Given the description of an element on the screen output the (x, y) to click on. 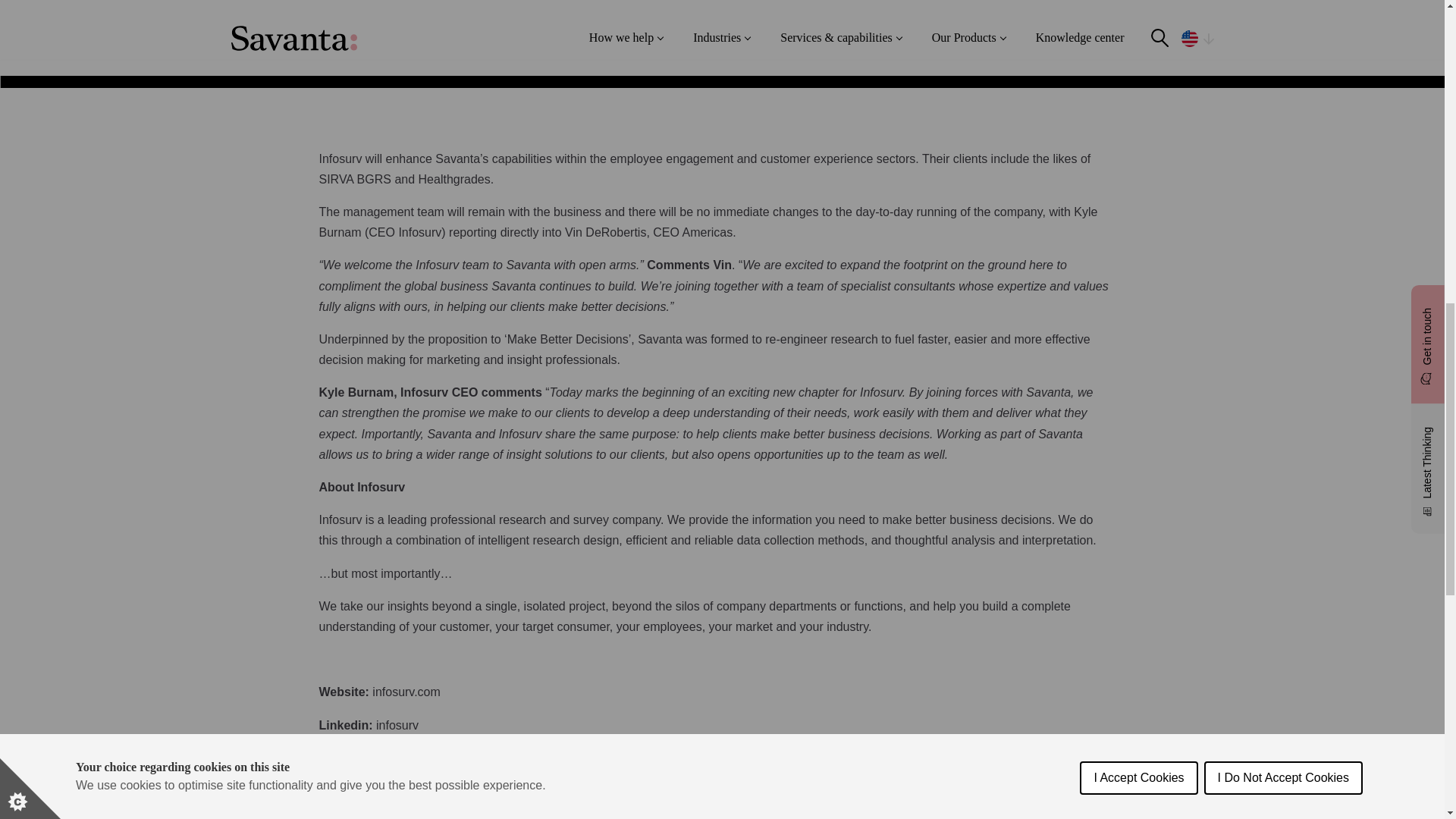
I Do Not Accept Cookies (1283, 17)
I Accept Cookies (1138, 32)
